Given the description of an element on the screen output the (x, y) to click on. 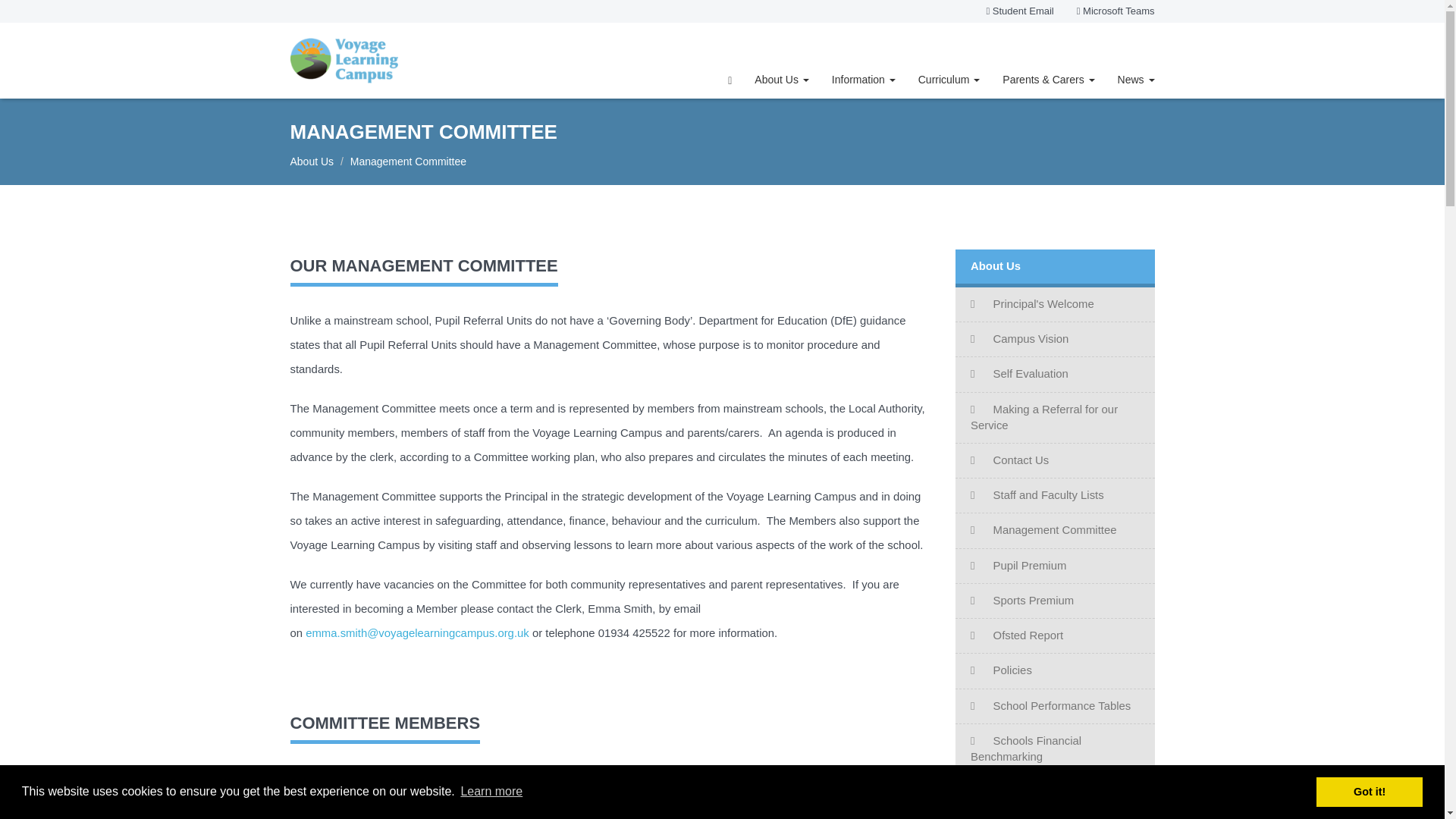
About Us (780, 79)
Learn more (491, 791)
Got it! (1369, 791)
Curriculum (949, 79)
Information (864, 79)
